Given the description of an element on the screen output the (x, y) to click on. 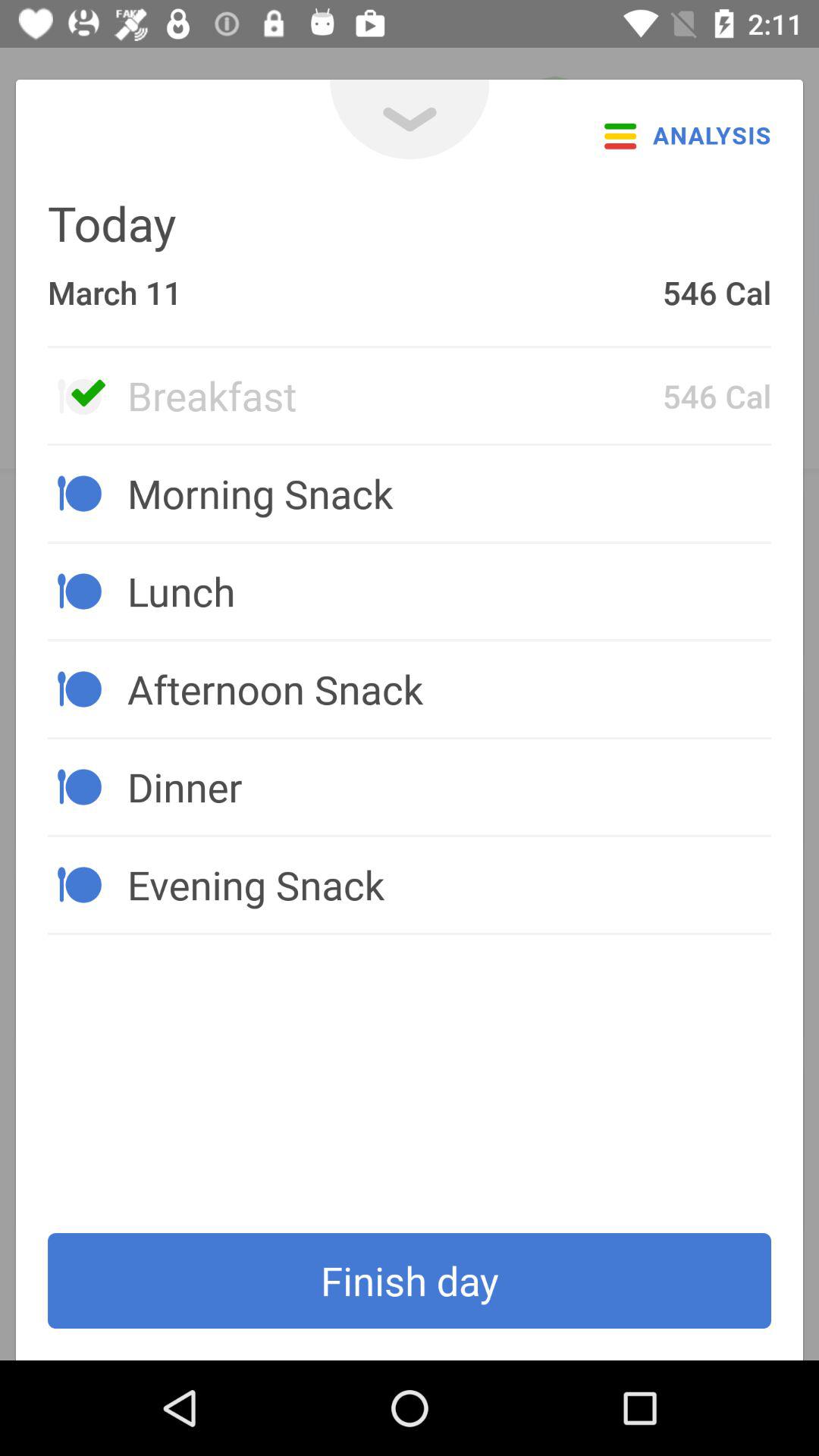
select the item below lunch icon (449, 688)
